Given the description of an element on the screen output the (x, y) to click on. 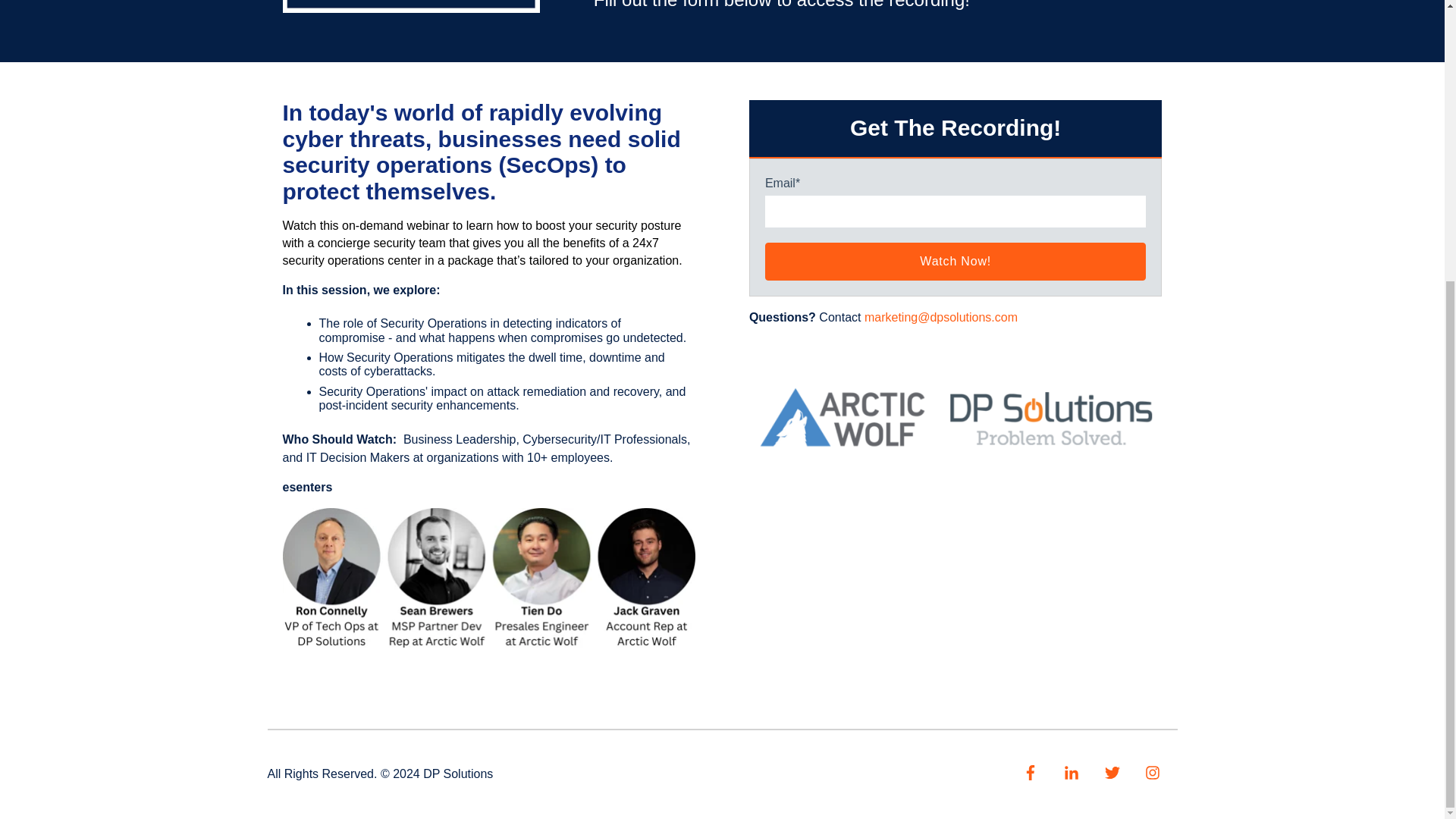
Arctic Wolf DP Solutions (955, 418)
Watch Now! (956, 261)
Watch Now! (956, 261)
